Given the description of an element on the screen output the (x, y) to click on. 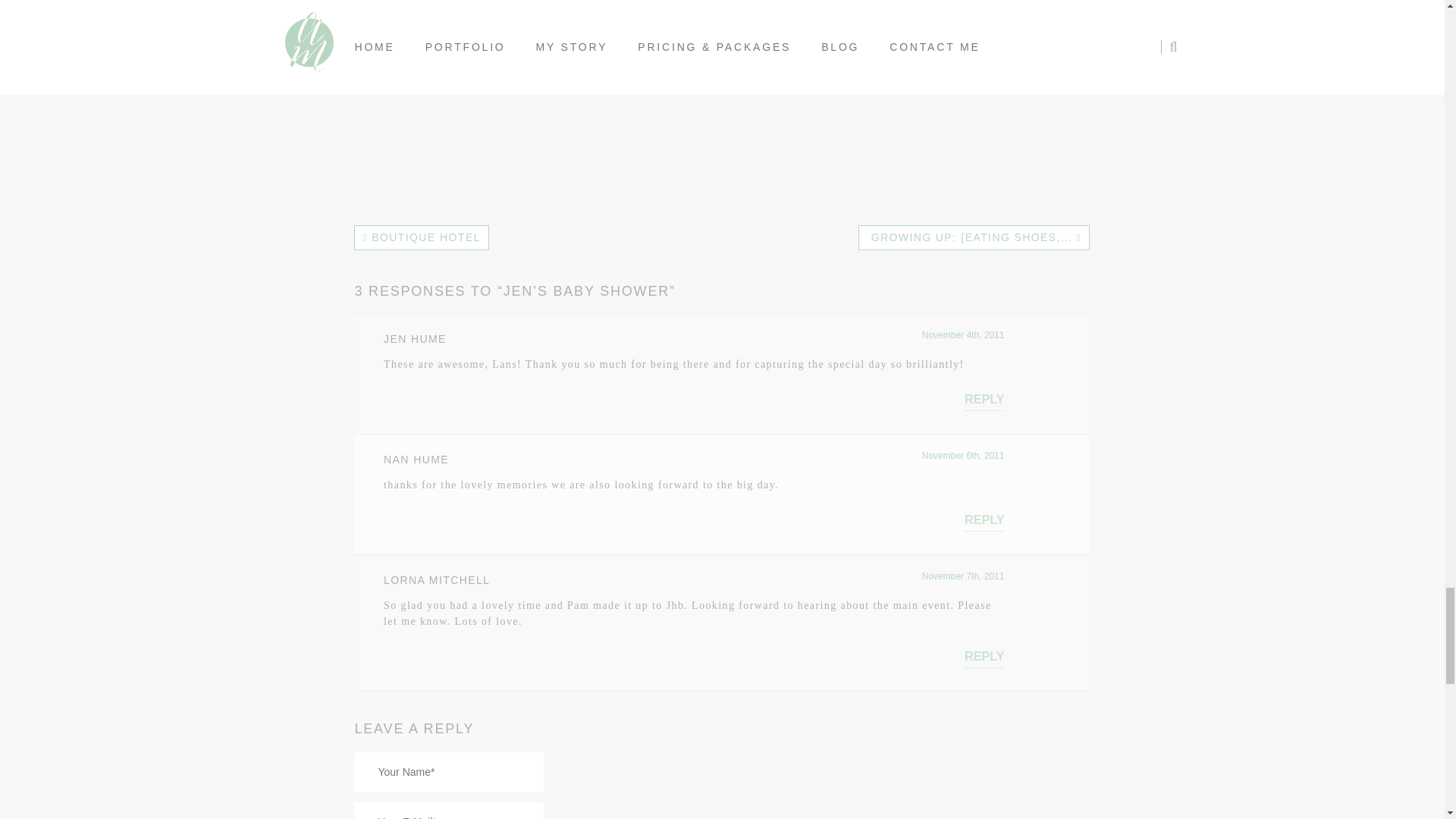
November 7th, 2011 (962, 576)
REPLY (983, 656)
jenbb (581, 79)
REPLY (983, 399)
November 4th, 2011 (962, 335)
November 6th, 2011 (962, 455)
REPLY (983, 519)
 BOUTIQUE HOTEL (420, 237)
